Given the description of an element on the screen output the (x, y) to click on. 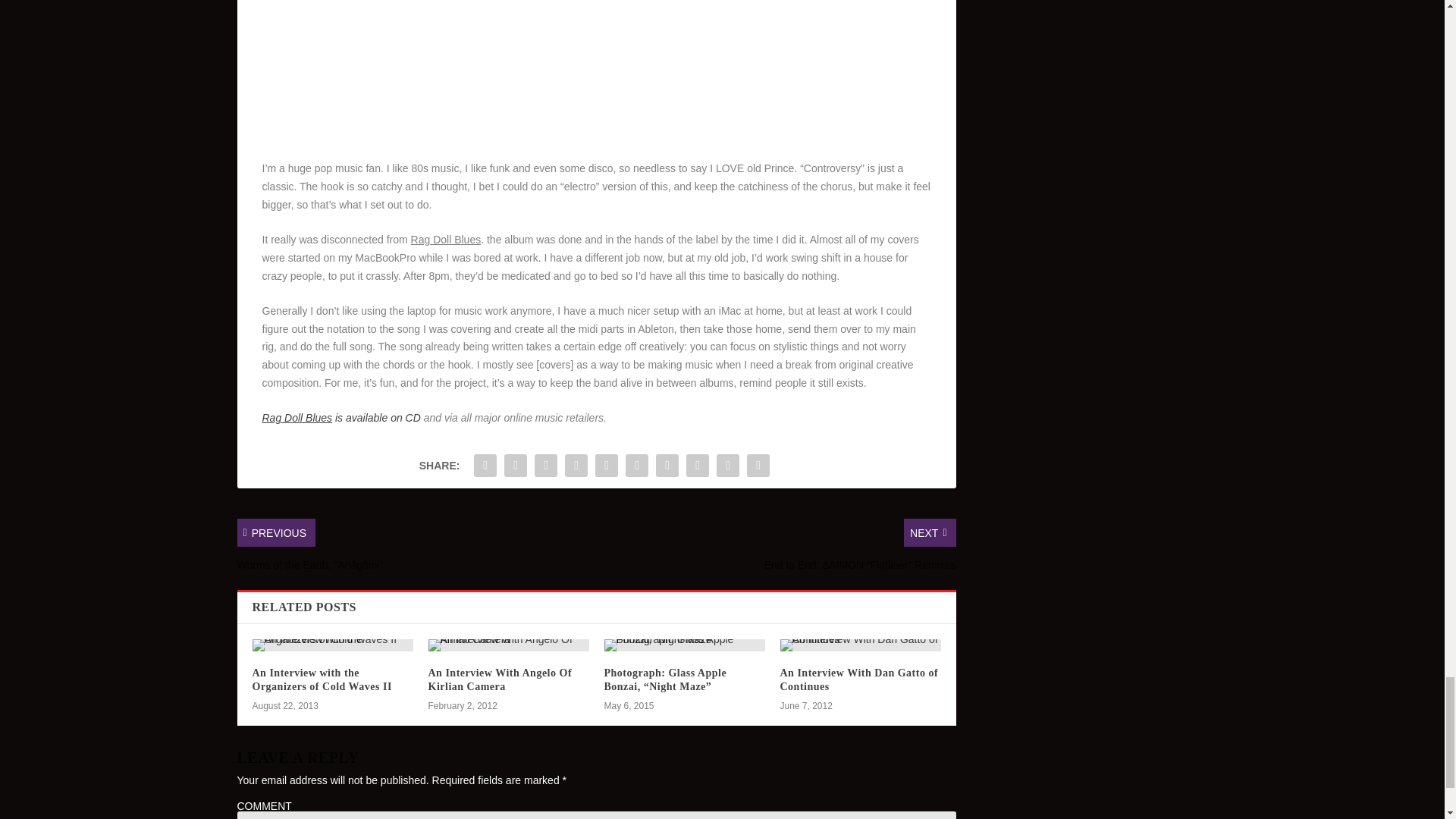
An Interview with the Organizers of Cold Waves II (331, 645)
An Interview with the Organizers of Cold Waves II (321, 679)
An Interview With Angelo Of Kirlian Camera (508, 645)
An Interview With Angelo Of Kirlian Camera (500, 679)
Rag Doll Blues is available on CD (341, 417)
